Given the description of an element on the screen output the (x, y) to click on. 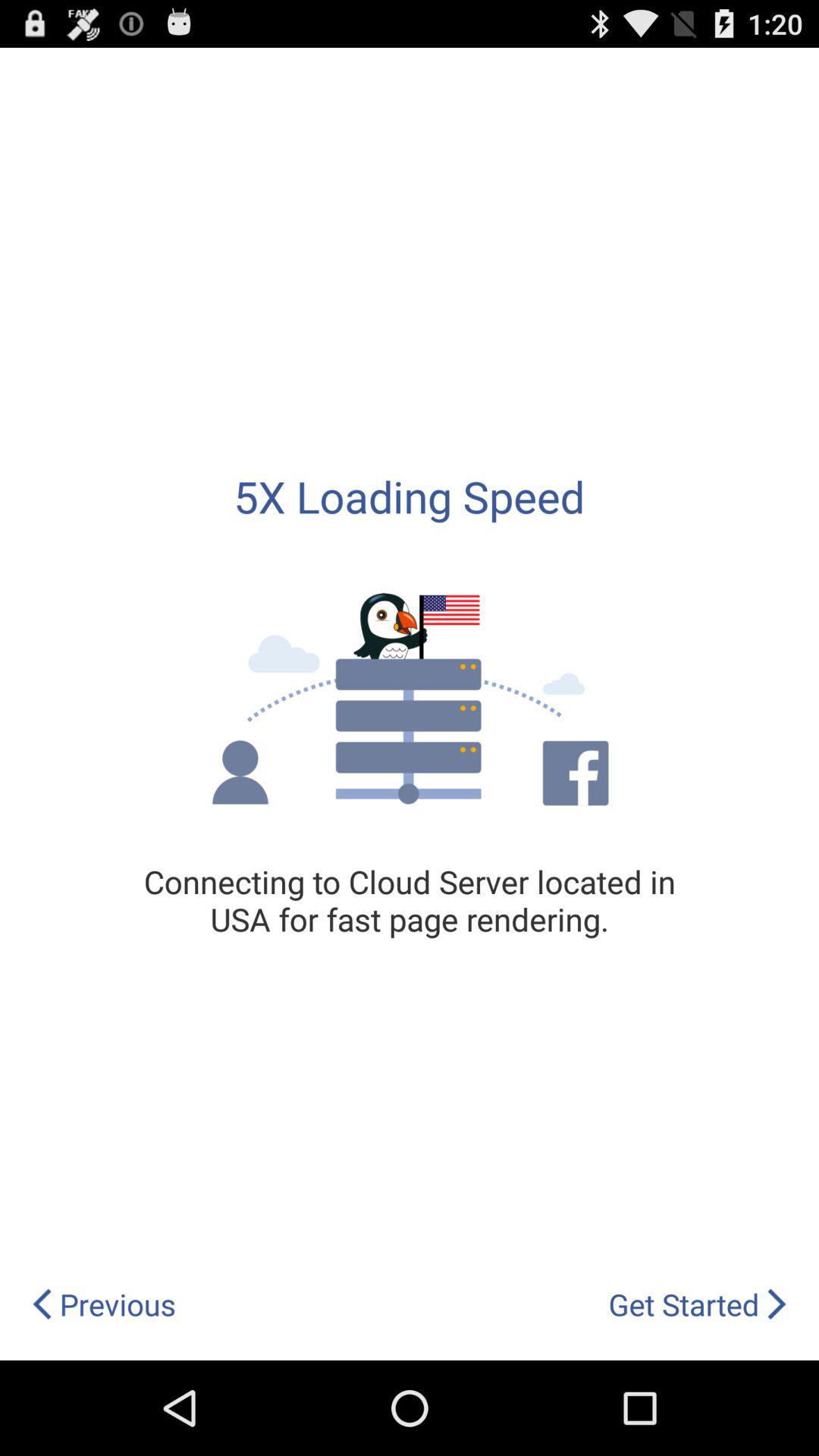
turn off the icon to the right of previous icon (697, 1304)
